Given the description of an element on the screen output the (x, y) to click on. 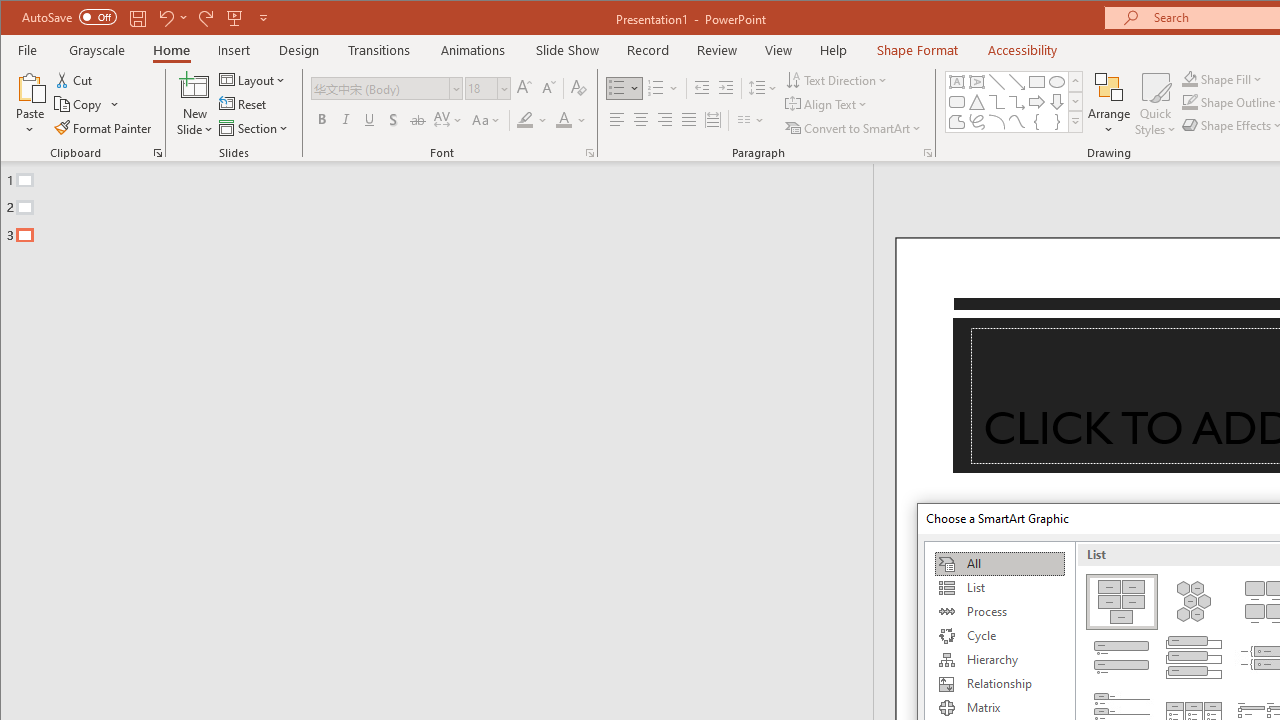
Arc (996, 121)
Underline (369, 119)
Bullets (623, 88)
Font Color Red (563, 119)
Format Painter (104, 127)
Connector: Elbow (996, 102)
Line (996, 82)
Shape Format (916, 50)
Font Color (571, 119)
Font... (589, 152)
Curve (1016, 121)
Reset (244, 103)
